Given the description of an element on the screen output the (x, y) to click on. 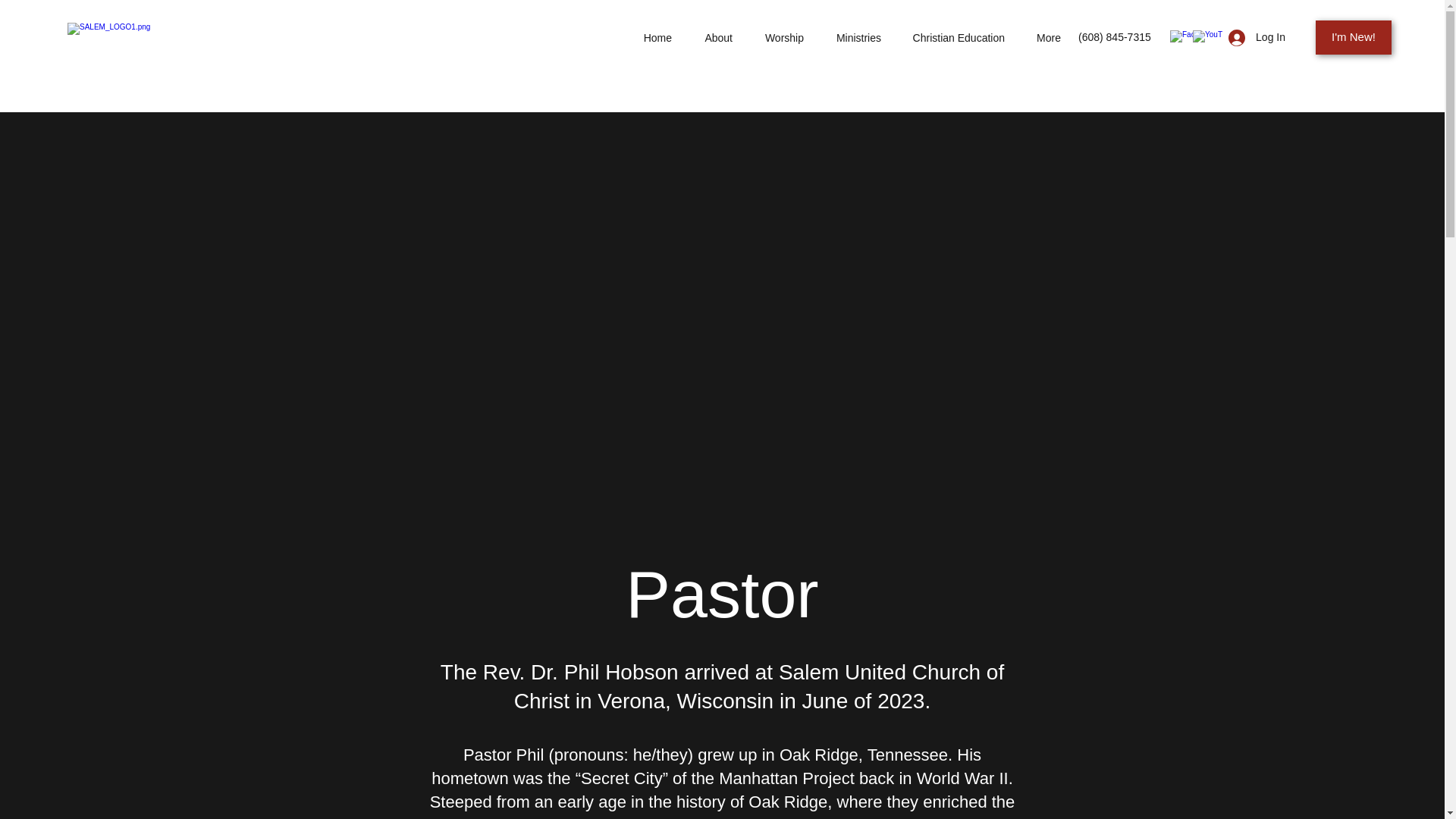
Ministries (849, 37)
Christian Education (949, 37)
Home (648, 37)
About (709, 37)
Worship (774, 37)
